Given the description of an element on the screen output the (x, y) to click on. 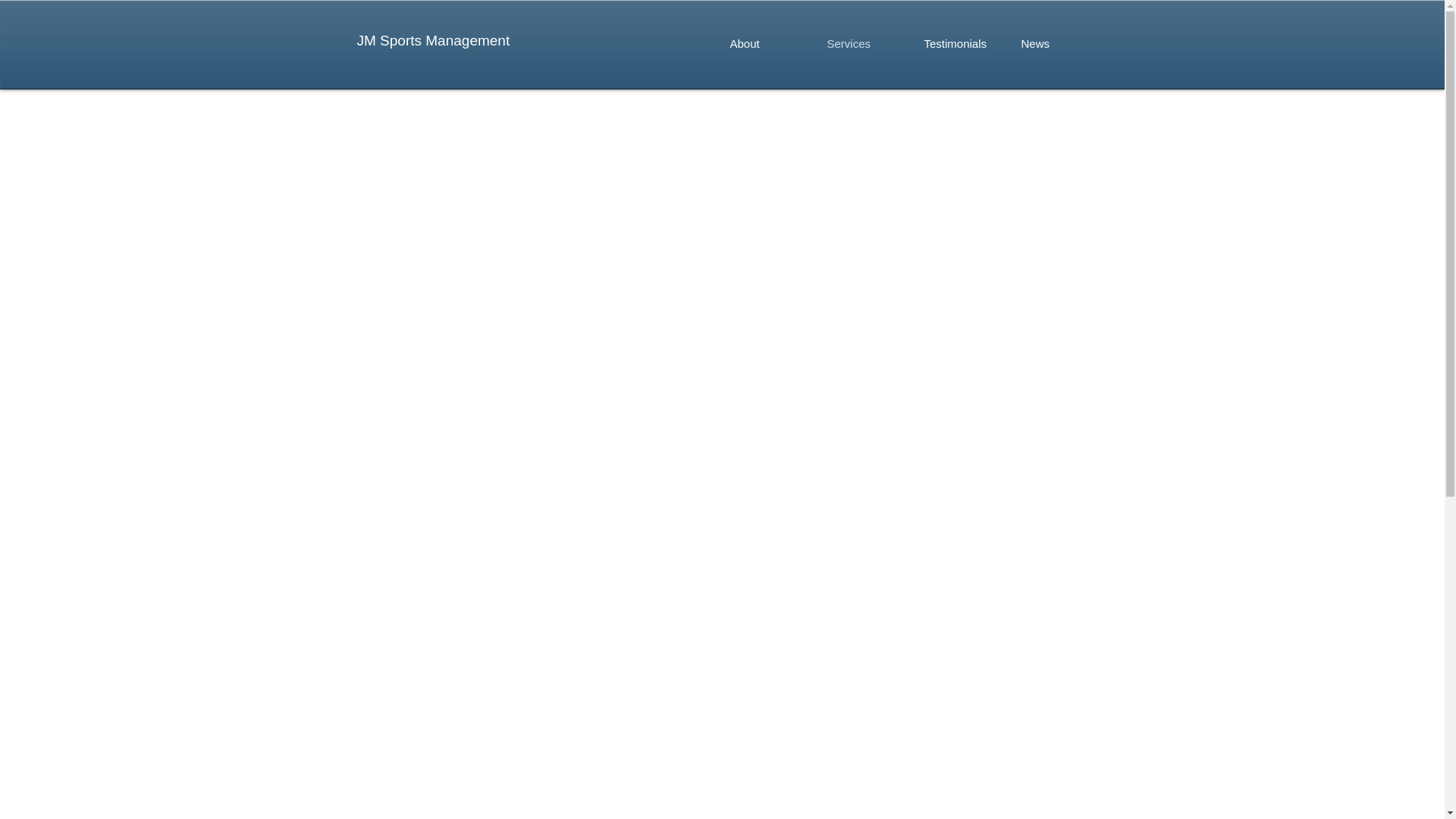
Testimonials (957, 43)
News (1054, 43)
Services (859, 43)
JM Sports Management (432, 40)
About (762, 43)
